Given the description of an element on the screen output the (x, y) to click on. 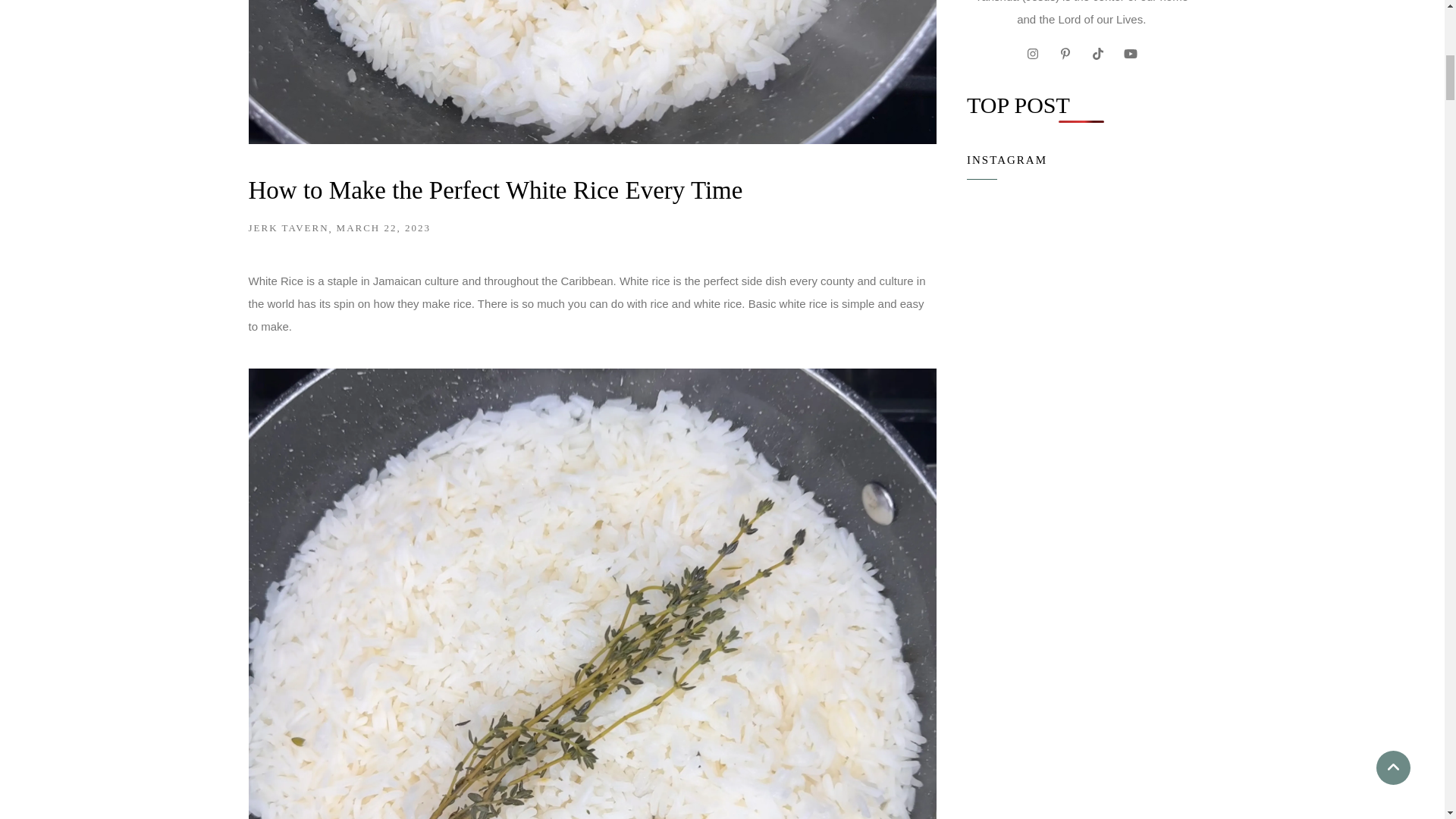
JERK TAVERN (288, 227)
